Given the description of an element on the screen output the (x, y) to click on. 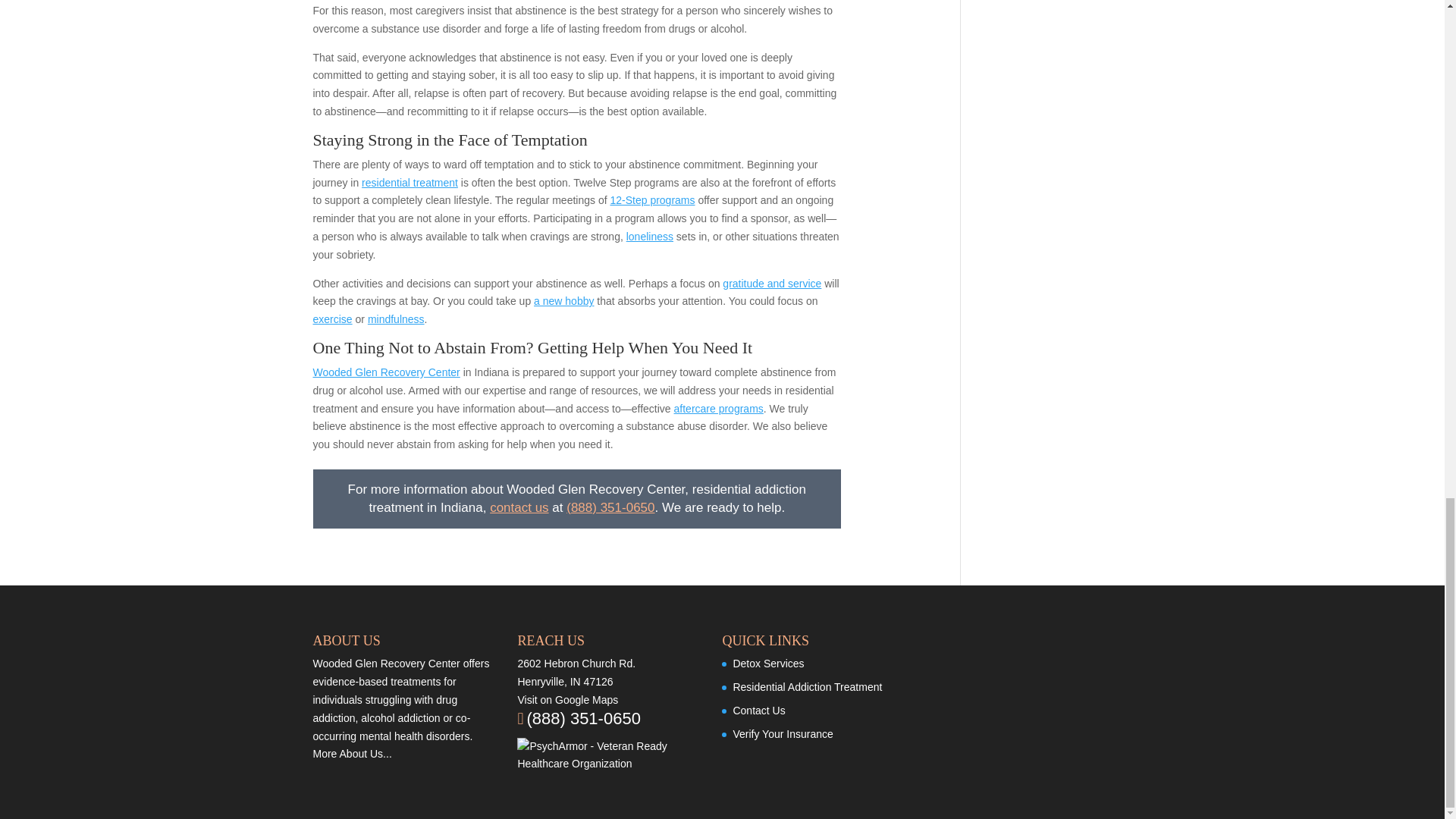
loneliness (649, 236)
Joint Commission Gold Seal (964, 671)
12-Step programs (652, 200)
a new hobby (564, 300)
residential treatment (409, 182)
gratitude and service (771, 283)
exercise (332, 318)
PsychArmor - Veteran Ready (606, 755)
